Given the description of an element on the screen output the (x, y) to click on. 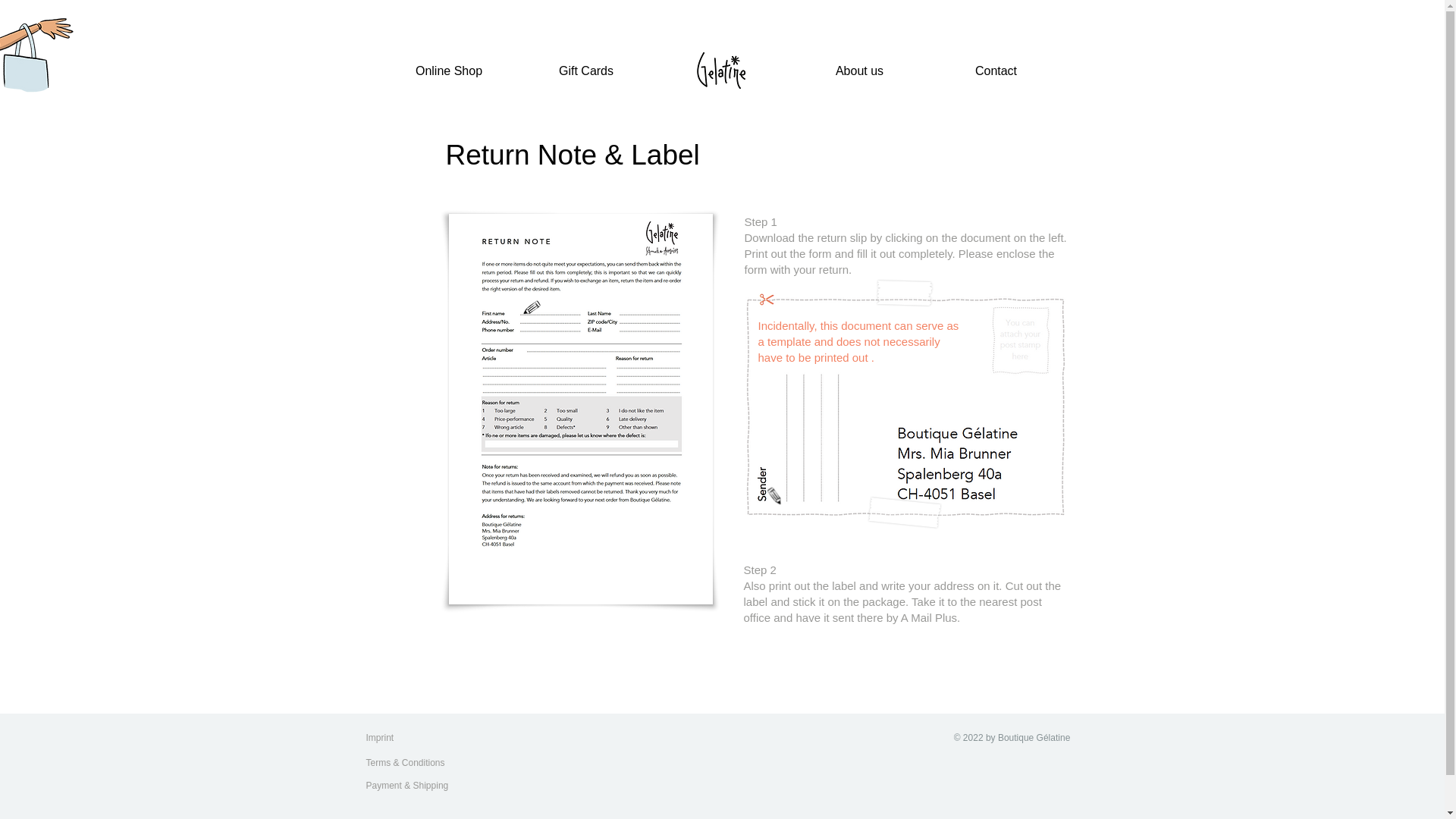
Gift Cards (584, 71)
Hand drawn pencil (531, 307)
Imprint (395, 737)
Online Shop (449, 71)
Hand drawn pencil (777, 491)
About us (860, 71)
Contact (996, 71)
